Given the description of an element on the screen output the (x, y) to click on. 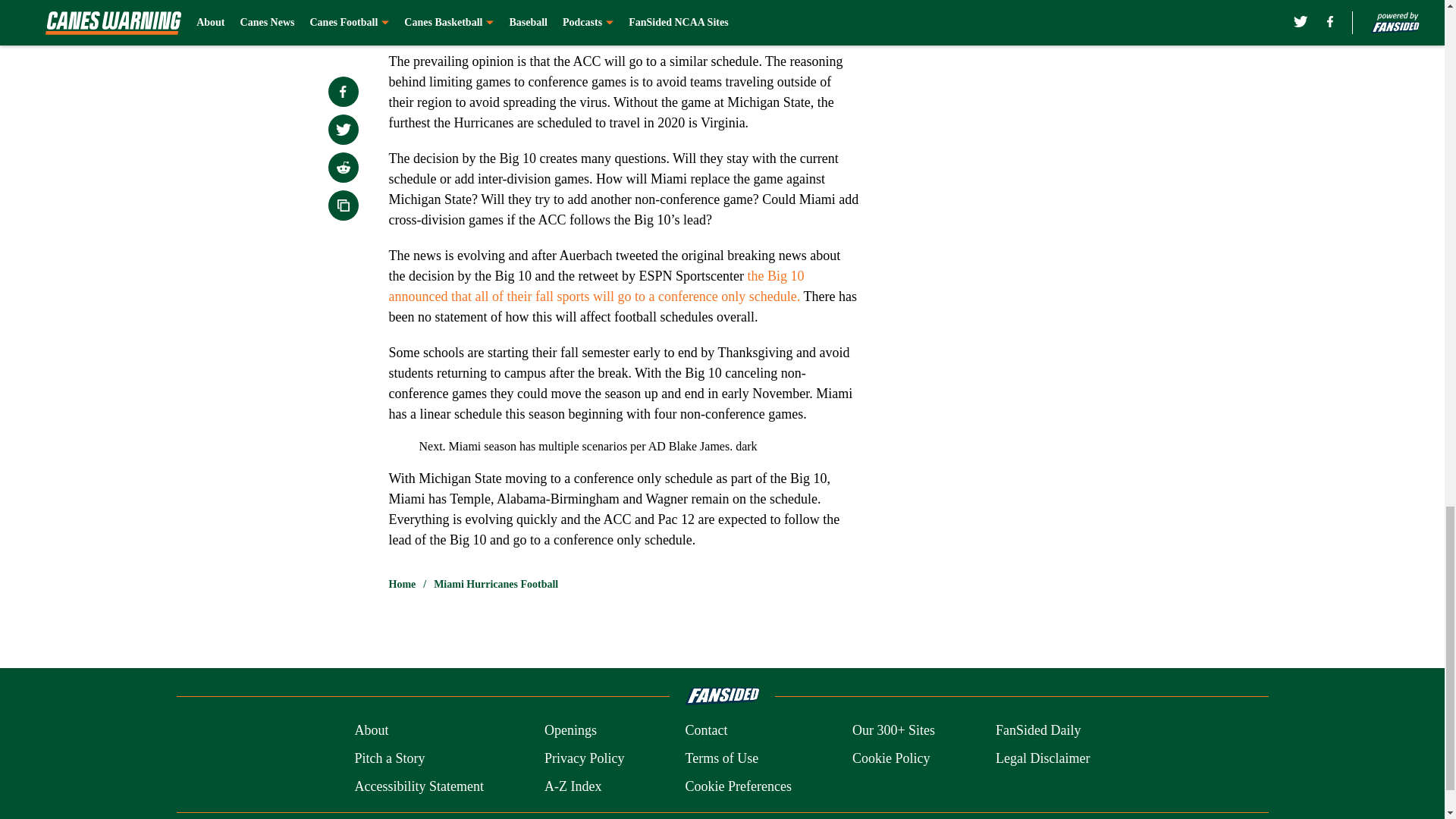
Cookie Policy (890, 758)
Accessibility Statement (418, 786)
Miami Hurricanes Football (495, 584)
Contact (705, 730)
About (370, 730)
Pitch a Story (389, 758)
Terms of Use (721, 758)
Home (401, 584)
Legal Disclaimer (1042, 758)
